Given the description of an element on the screen output the (x, y) to click on. 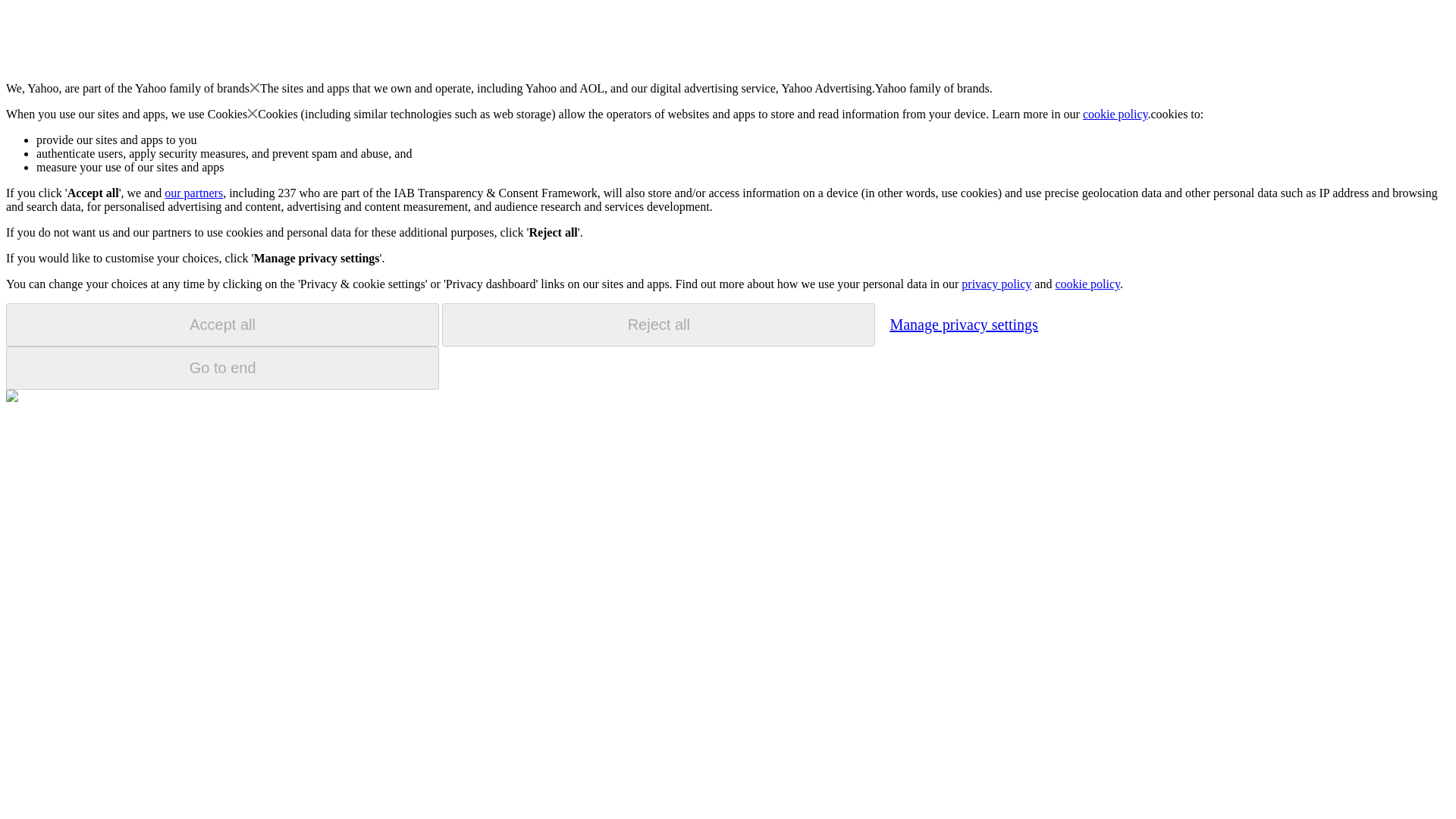
cookie policy (1115, 113)
Go to end (222, 367)
Reject all (658, 324)
privacy policy (995, 283)
our partners (193, 192)
Manage privacy settings (963, 323)
cookie policy (1086, 283)
Accept all (222, 324)
